Given the description of an element on the screen output the (x, y) to click on. 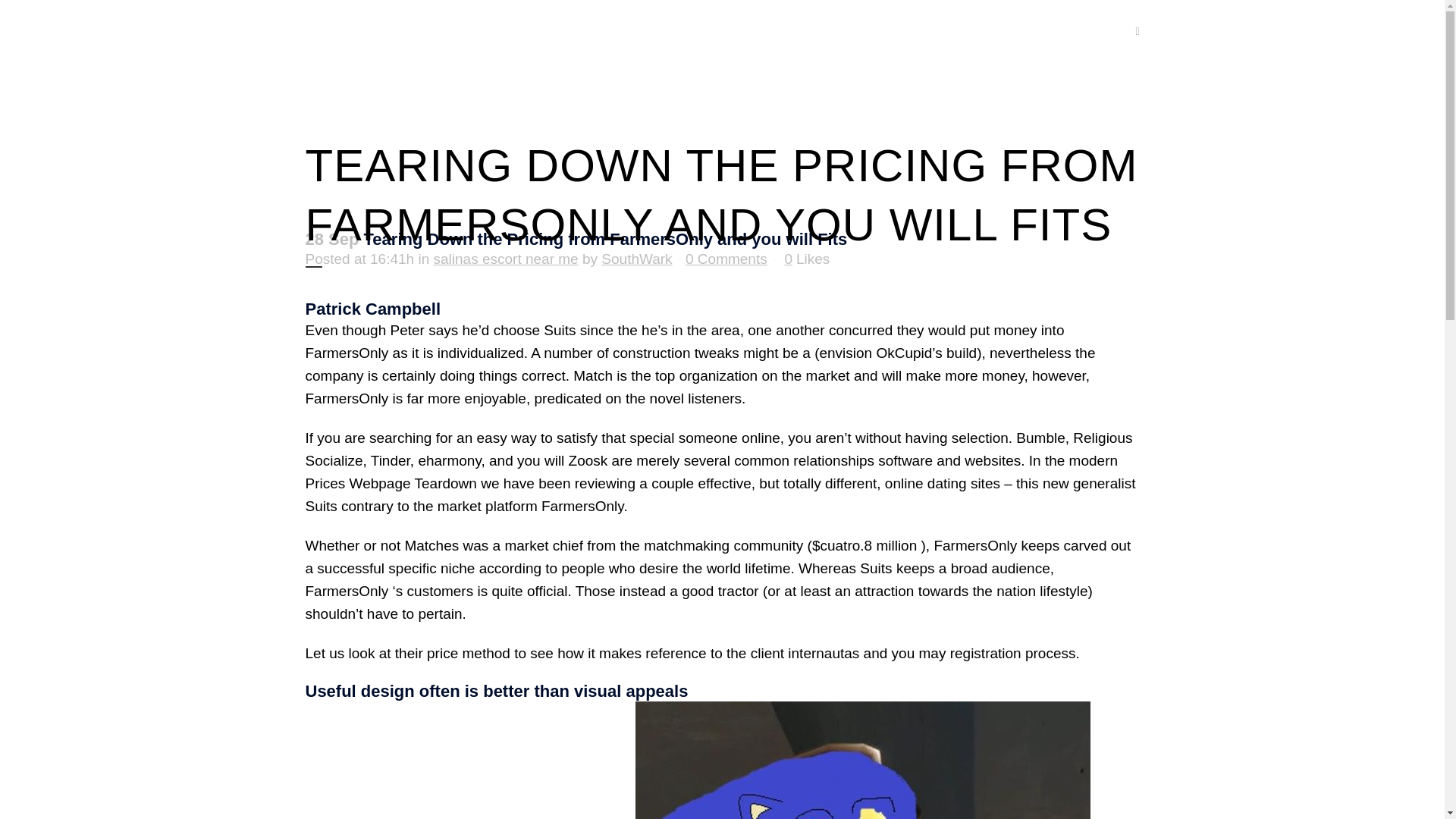
SouthWark (636, 258)
salinas escort near me (505, 258)
Like this (806, 258)
0 Likes (806, 258)
0 Comments (726, 258)
